Given the description of an element on the screen output the (x, y) to click on. 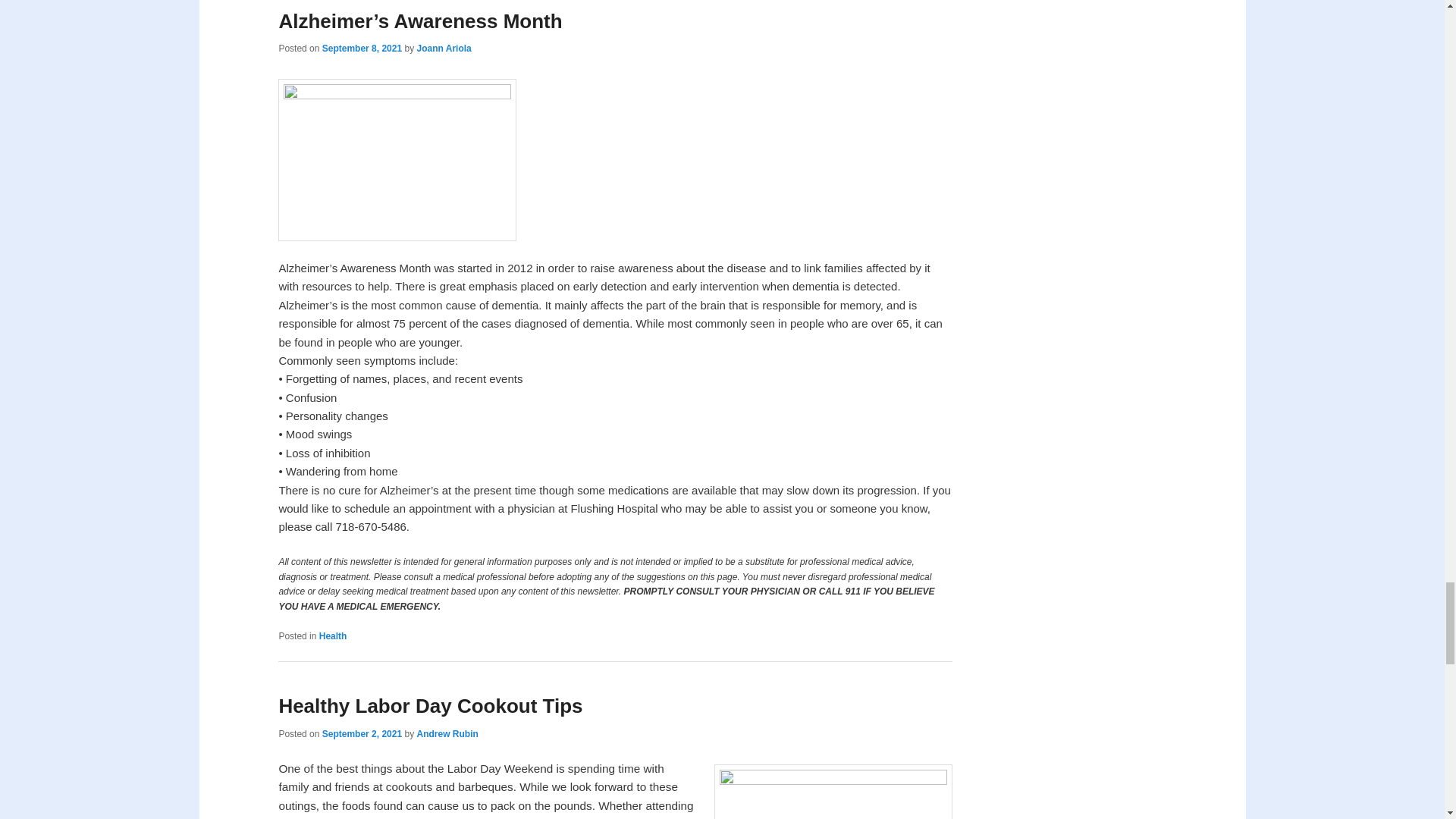
5:12 pm (361, 48)
